Given the description of an element on the screen output the (x, y) to click on. 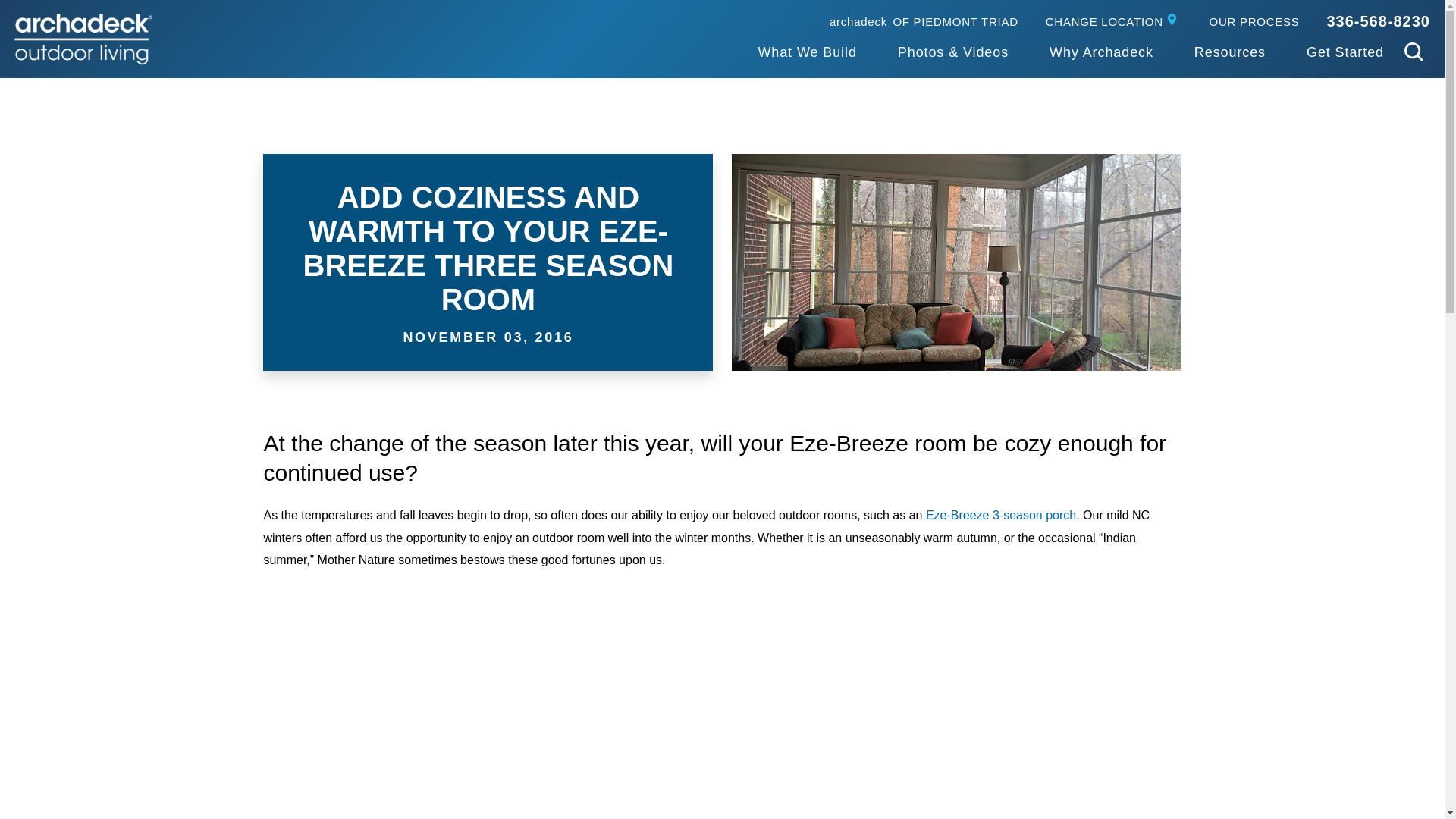
Resources (1229, 53)
Why Archadeck (1101, 53)
OUR PROCESS (923, 20)
Archadeck (1254, 20)
336-568-8230 (83, 39)
CHANGE LOCATION (1377, 20)
What We Build (1113, 20)
YouTube video player (806, 53)
